Given the description of an element on the screen output the (x, y) to click on. 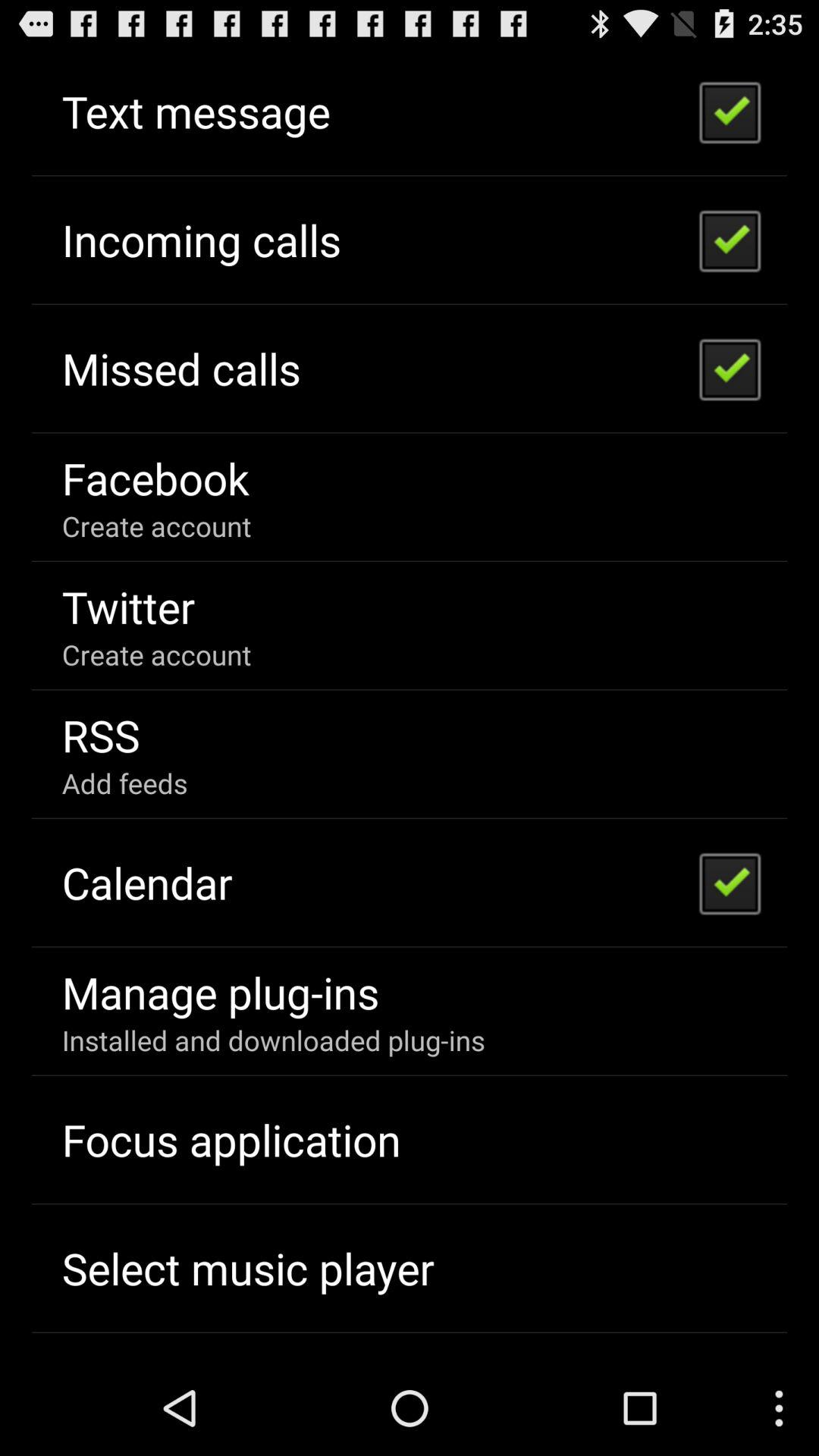
press the twitter icon (128, 606)
